Given the description of an element on the screen output the (x, y) to click on. 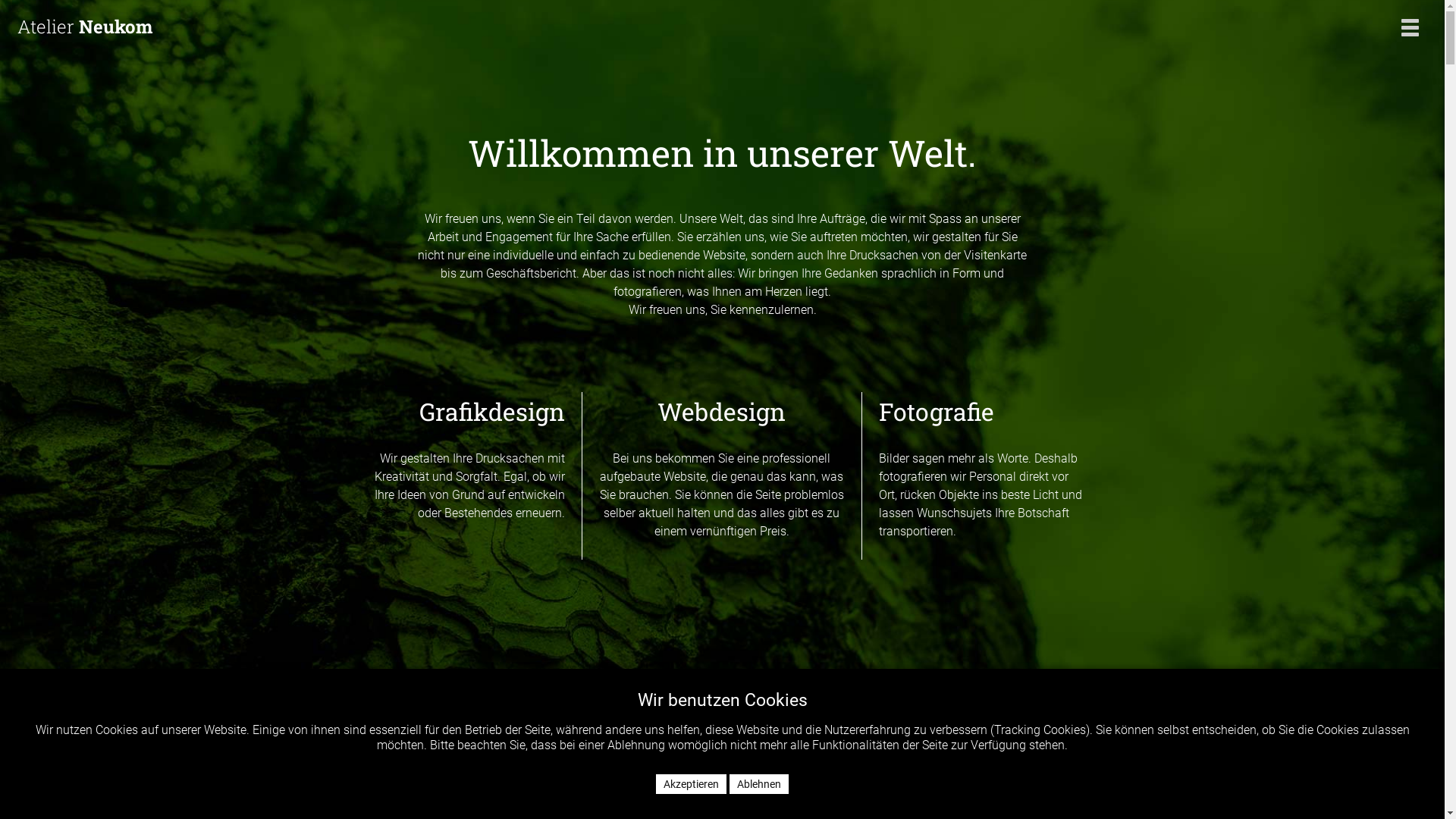
Atelier Neukom Element type: text (541, 26)
Akzeptieren Element type: text (690, 783)
Ablehnen Element type: text (758, 783)
